Given the description of an element on the screen output the (x, y) to click on. 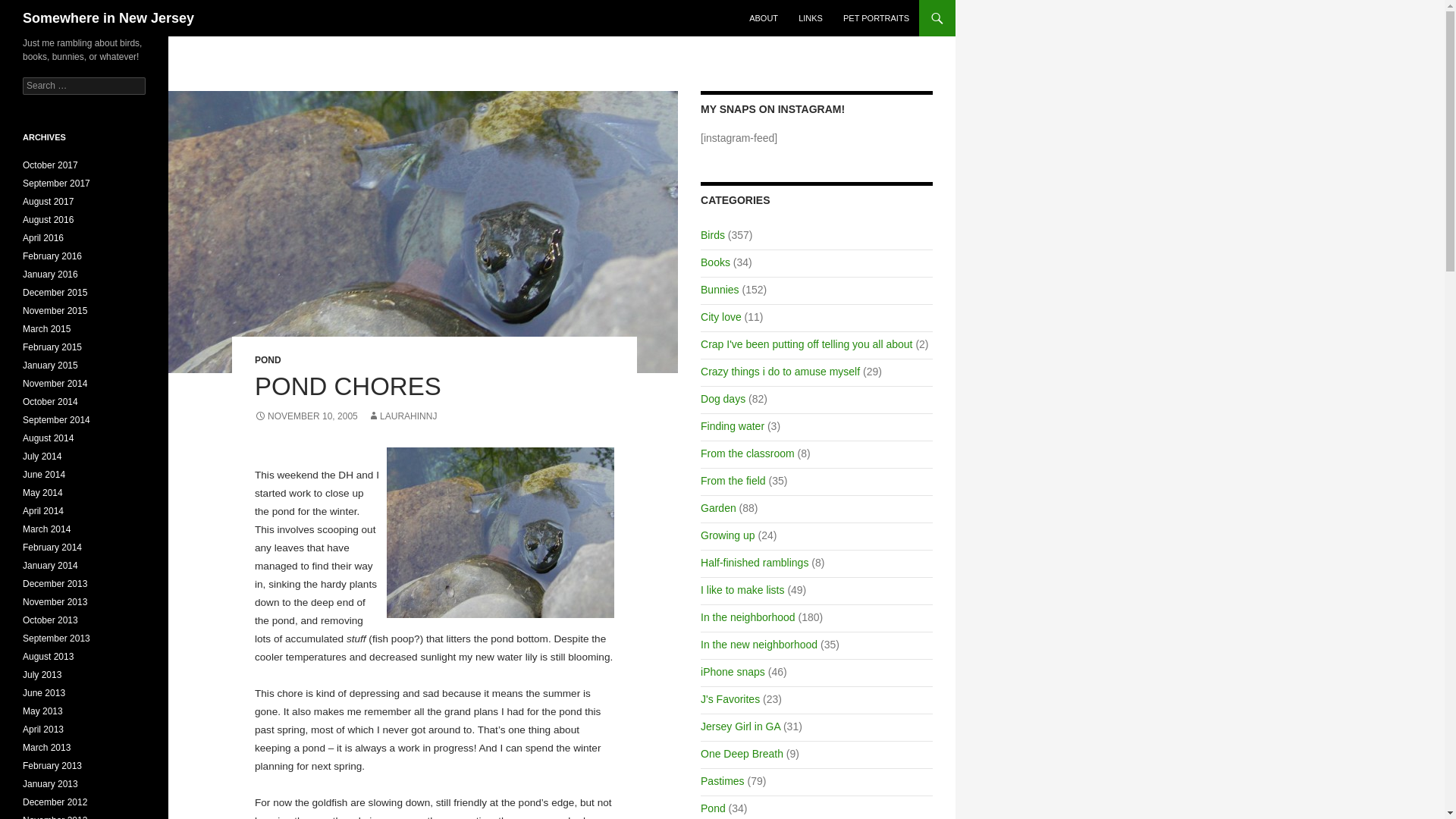
I like to make lists (742, 589)
Bunnies (719, 289)
From the classroom (747, 453)
In the neighborhood (747, 616)
From the field (732, 480)
Dog days (722, 398)
iPhone snaps (732, 671)
LINKS (810, 18)
Crazy things i do to amuse myself (780, 371)
PET PORTRAITS (876, 18)
ABOUT (763, 18)
LAURAHINNJ (402, 416)
Crap I've been putting off telling you all about (806, 344)
Jersey Girl in GA (740, 726)
POND (267, 359)
